Given the description of an element on the screen output the (x, y) to click on. 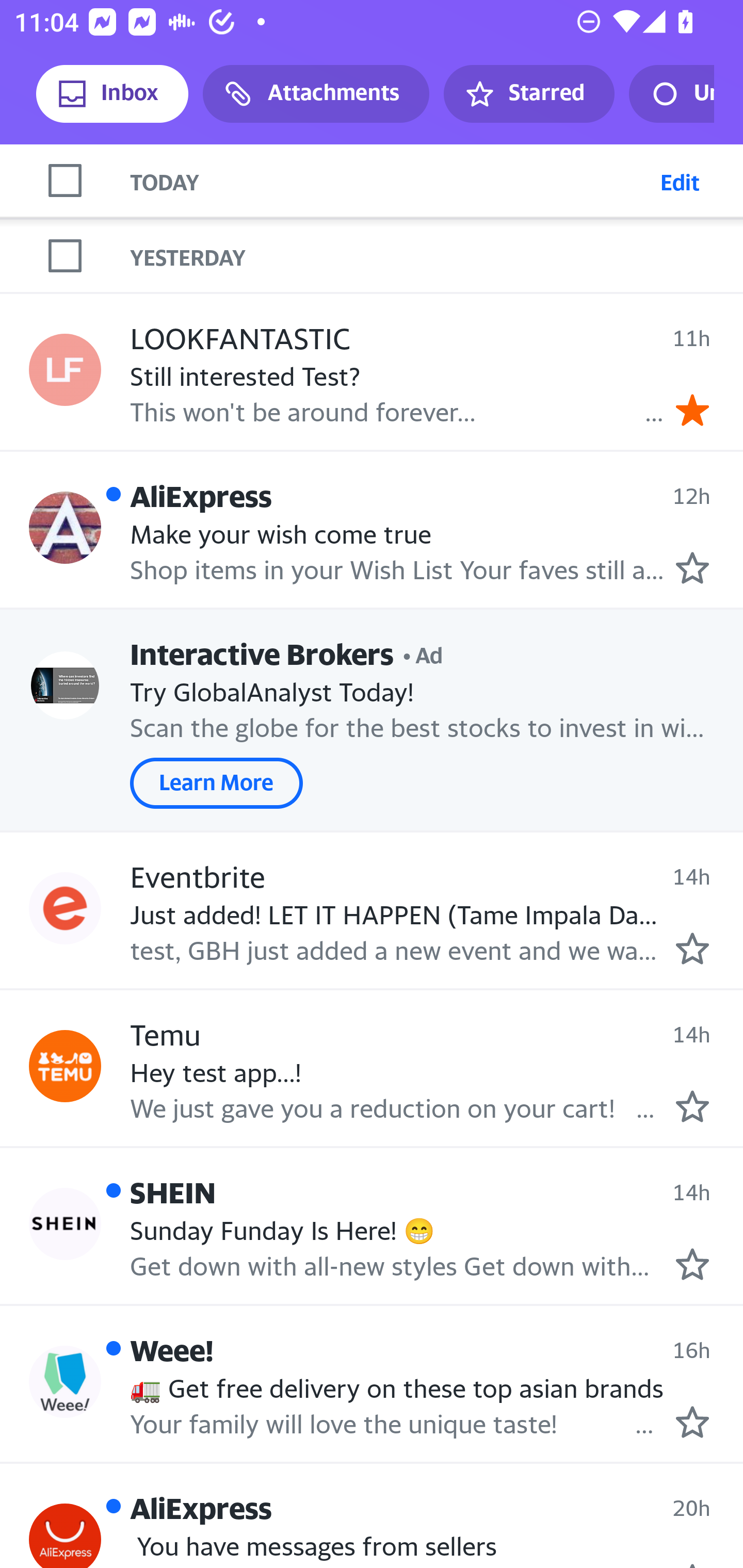
Attachments (315, 93)
Starred (528, 93)
YESTERDAY (436, 256)
Profile
LOOKFANTASTIC (64, 369)
Remove star. (692, 410)
Profile
AliExpress (64, 527)
Mark as starred. (692, 568)
Profile
Eventbrite (64, 907)
Mark as starred. (692, 947)
Profile
Temu (64, 1066)
Mark as starred. (692, 1106)
Profile
SHEIN (64, 1224)
Mark as starred. (692, 1264)
Profile
Weee! (64, 1381)
Mark as starred. (692, 1421)
Profile
AliExpress (64, 1535)
